Given the description of an element on the screen output the (x, y) to click on. 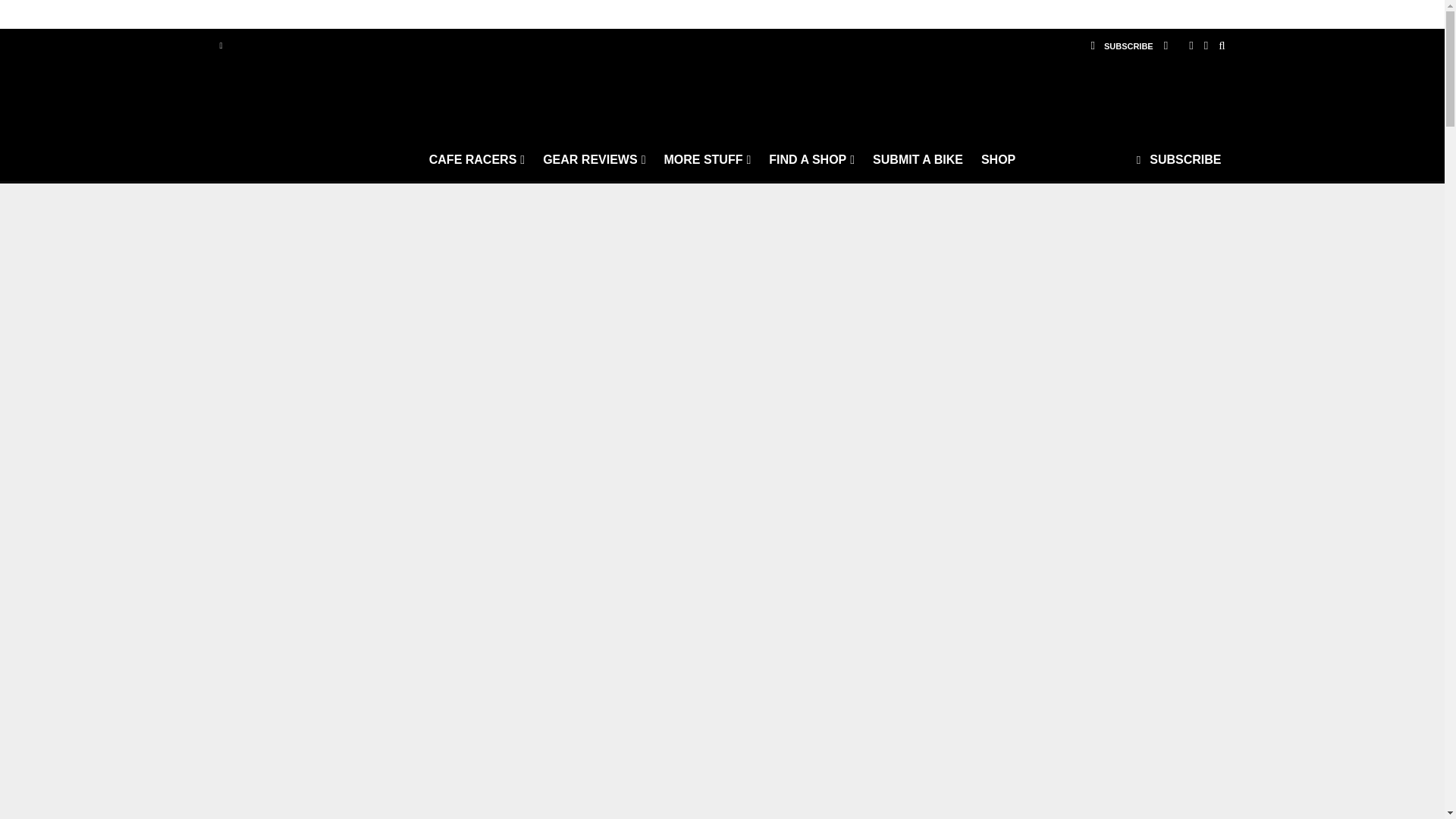
CAFE RACERS (477, 159)
SUBSCRIBE (1120, 45)
